Given the description of an element on the screen output the (x, y) to click on. 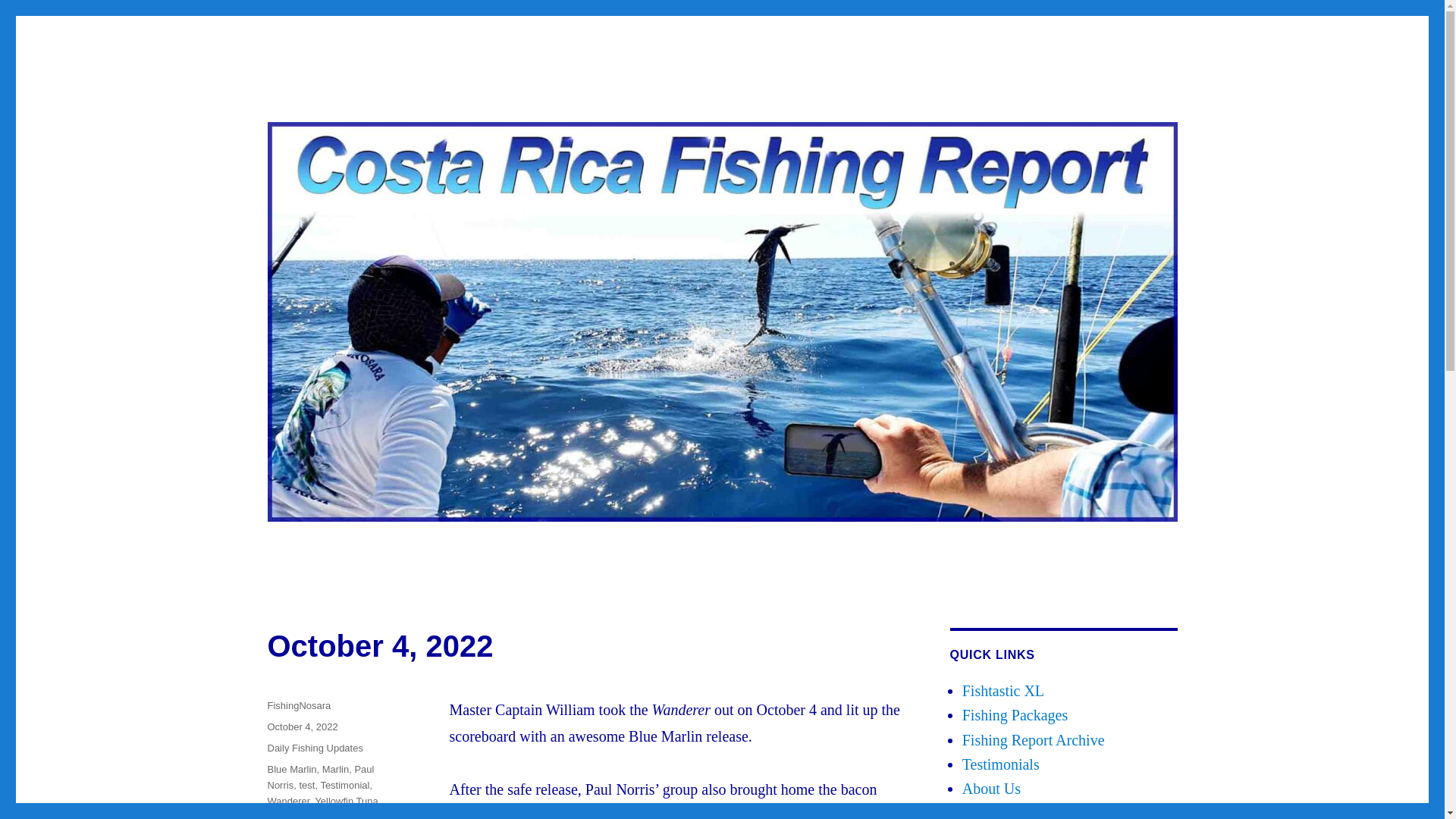
Daily Fishing Updates (314, 747)
Marlin (335, 768)
October 4, 2022 (301, 726)
Testimonial (344, 785)
Paul Norris (320, 777)
Costa Rica Fishing Report from FishingNosara (502, 108)
About Us (991, 788)
Fishing Packages (1014, 714)
Fishing Report Archive (1033, 740)
test (306, 785)
Yellowfin Tuna (345, 800)
Wanderer (287, 800)
Testimonials (1000, 764)
Fishtastic XL (1002, 690)
FishingNosara (298, 705)
